Given the description of an element on the screen output the (x, y) to click on. 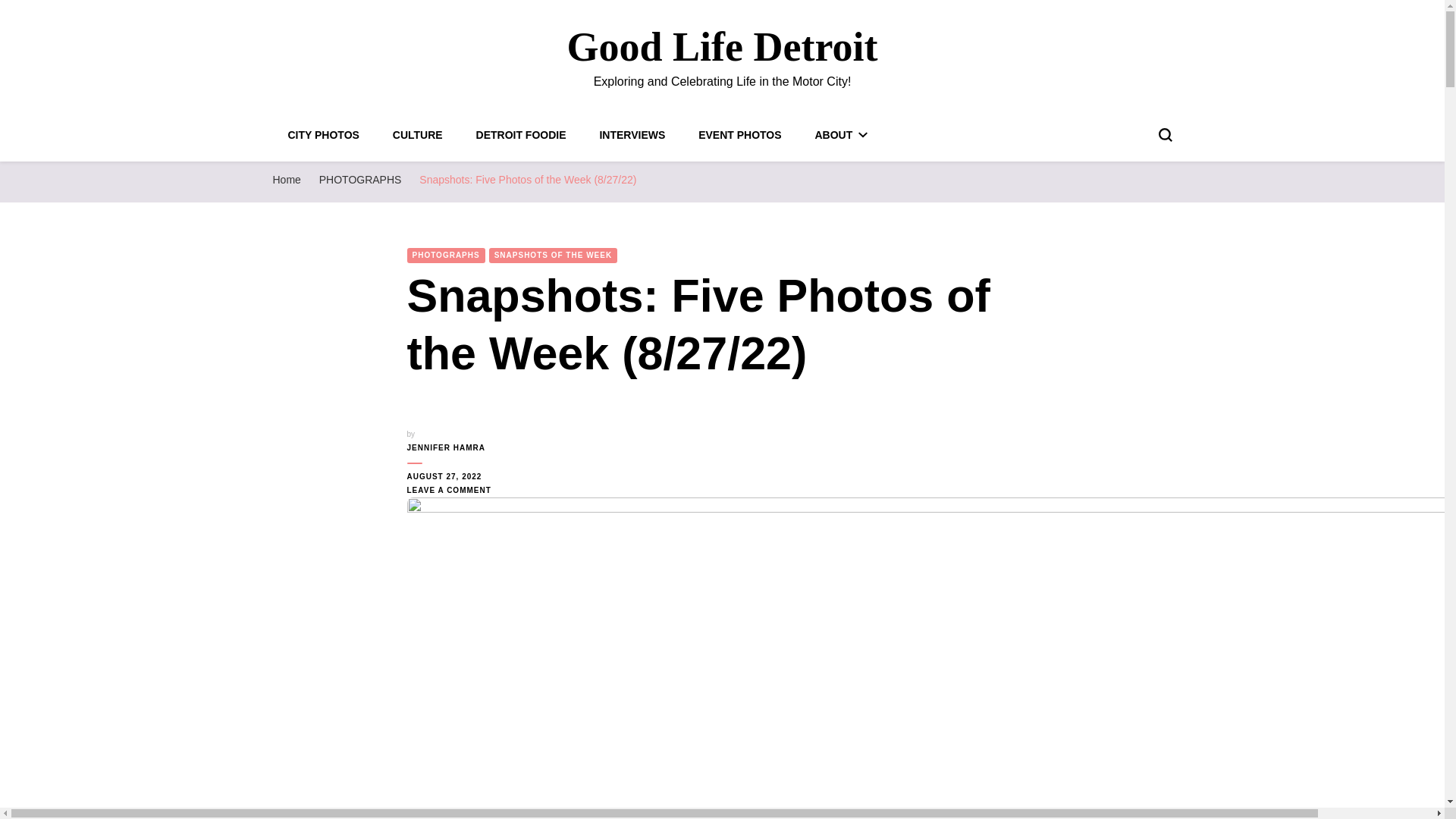
CULTURE (417, 134)
EVENT PHOTOS (739, 134)
Home (287, 179)
AUGUST 27, 2022 (455, 477)
INTERVIEWS (631, 134)
SNAPSHOTS OF THE WEEK (553, 255)
ABOUT (840, 134)
JENNIFER HAMRA (455, 448)
PHOTOGRAPHS (359, 179)
Good Life Detroit (722, 46)
DETROIT FOODIE (521, 134)
PHOTOGRAPHS (445, 255)
CITY PHOTOS (323, 134)
